Given the description of an element on the screen output the (x, y) to click on. 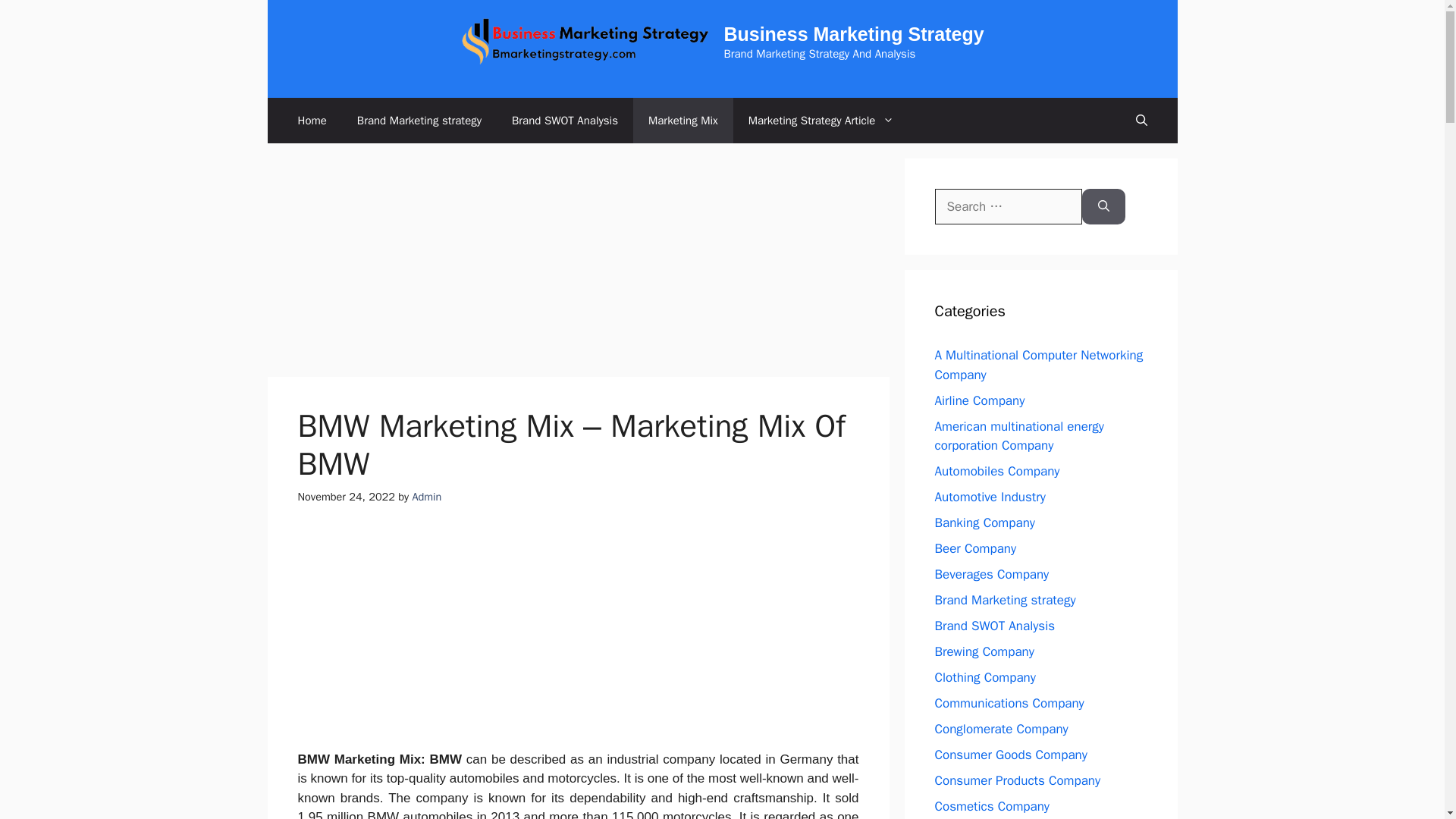
Brand Marketing strategy (419, 120)
Automotive Industry (989, 496)
A Multinational Computer Networking Company (1038, 365)
View all posts by Admin (426, 496)
Airline Company (979, 400)
Business Marketing Strategy (853, 34)
Search for: (1007, 207)
Admin (426, 496)
Beer Company (975, 548)
Home (311, 120)
Brand SWOT Analysis (564, 120)
Marketing Strategy Article (821, 120)
Marketing Mix (683, 120)
